Given the description of an element on the screen output the (x, y) to click on. 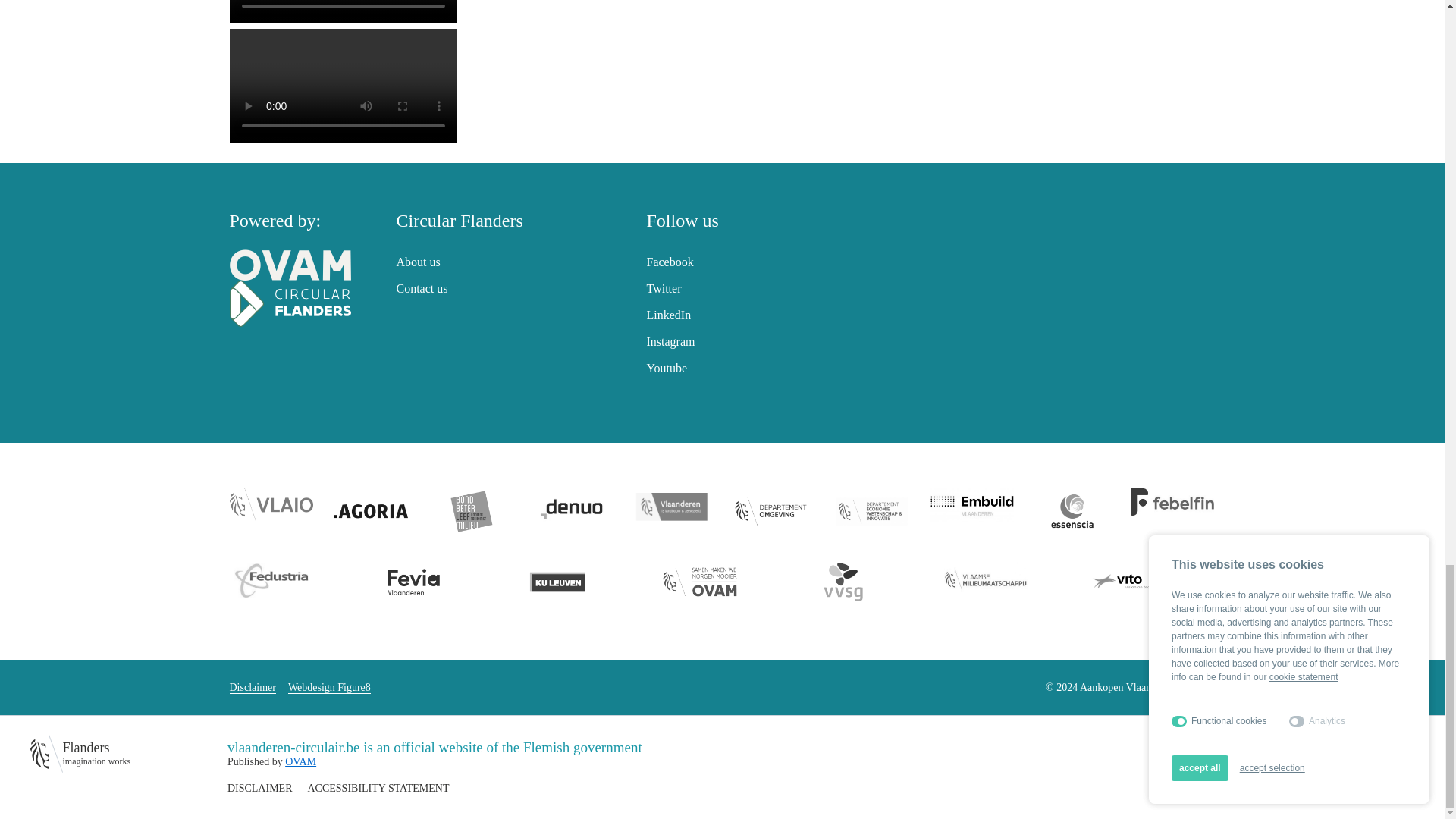
Twitter (663, 287)
Facebook (669, 261)
Contact us (421, 287)
Disclaimer (251, 687)
Instagram (670, 341)
Webdesign en Development Figure8 uit Gent (329, 687)
LinkedIn (668, 314)
About us (417, 261)
Youtube (666, 367)
